Given the description of an element on the screen output the (x, y) to click on. 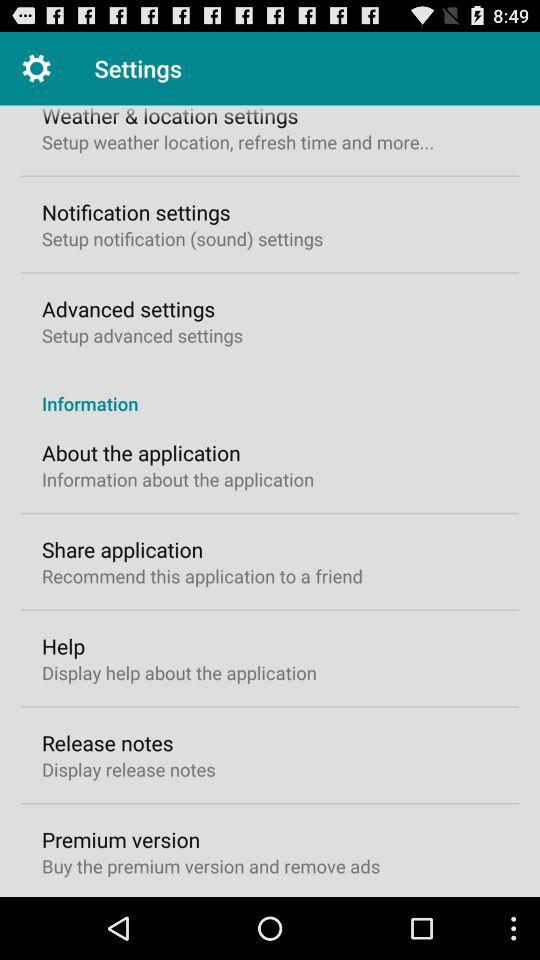
turn off icon to the left of settings (36, 68)
